Given the description of an element on the screen output the (x, y) to click on. 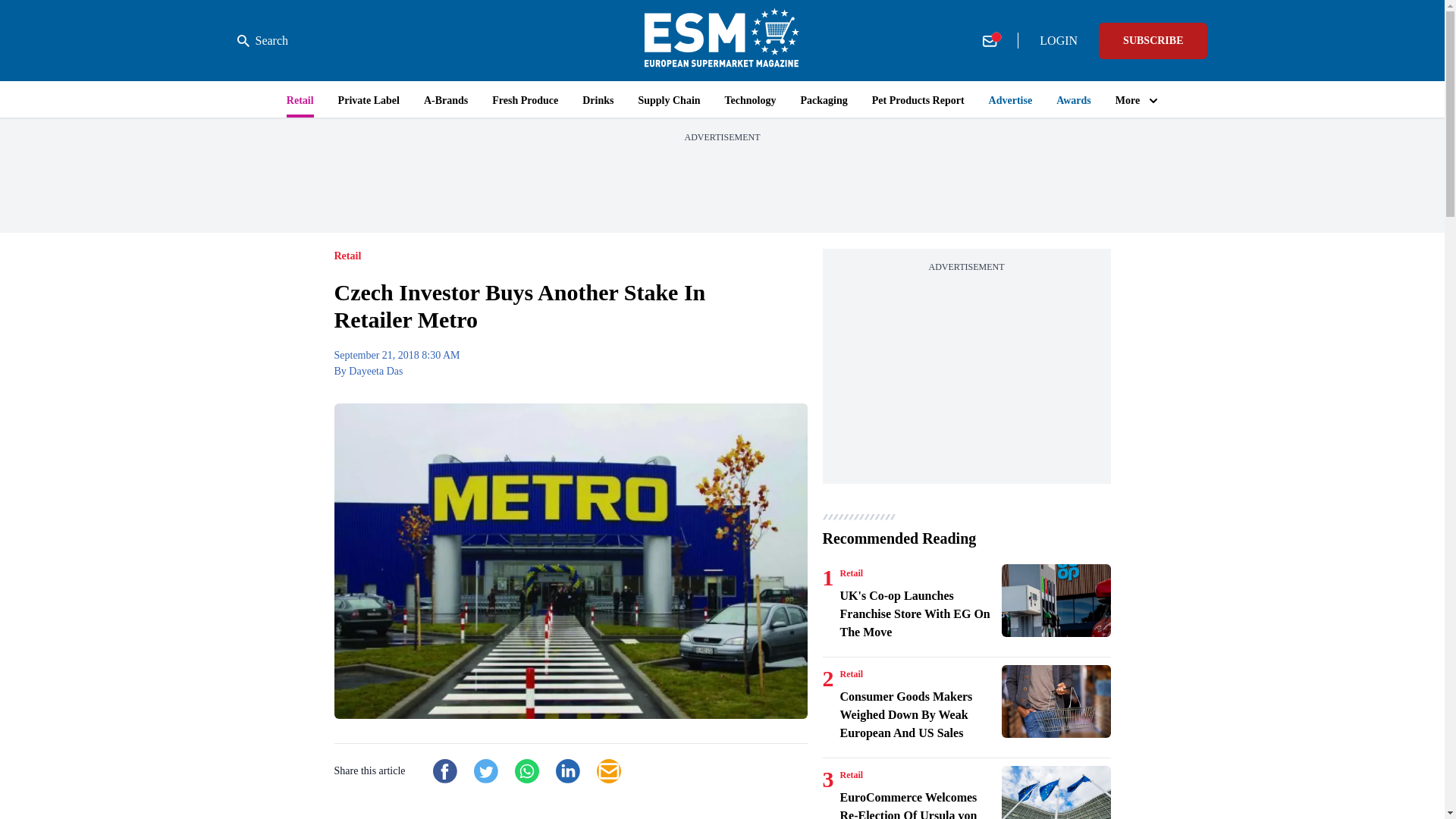
UK's Co-op Launches Franchise Store With EG On The Move (1055, 600)
Search (261, 40)
UK's Co-op Launches Franchise Store With EG On The Move (917, 614)
Retail (851, 674)
Retail (851, 573)
Retail (851, 775)
ESM (722, 40)
